Given the description of an element on the screen output the (x, y) to click on. 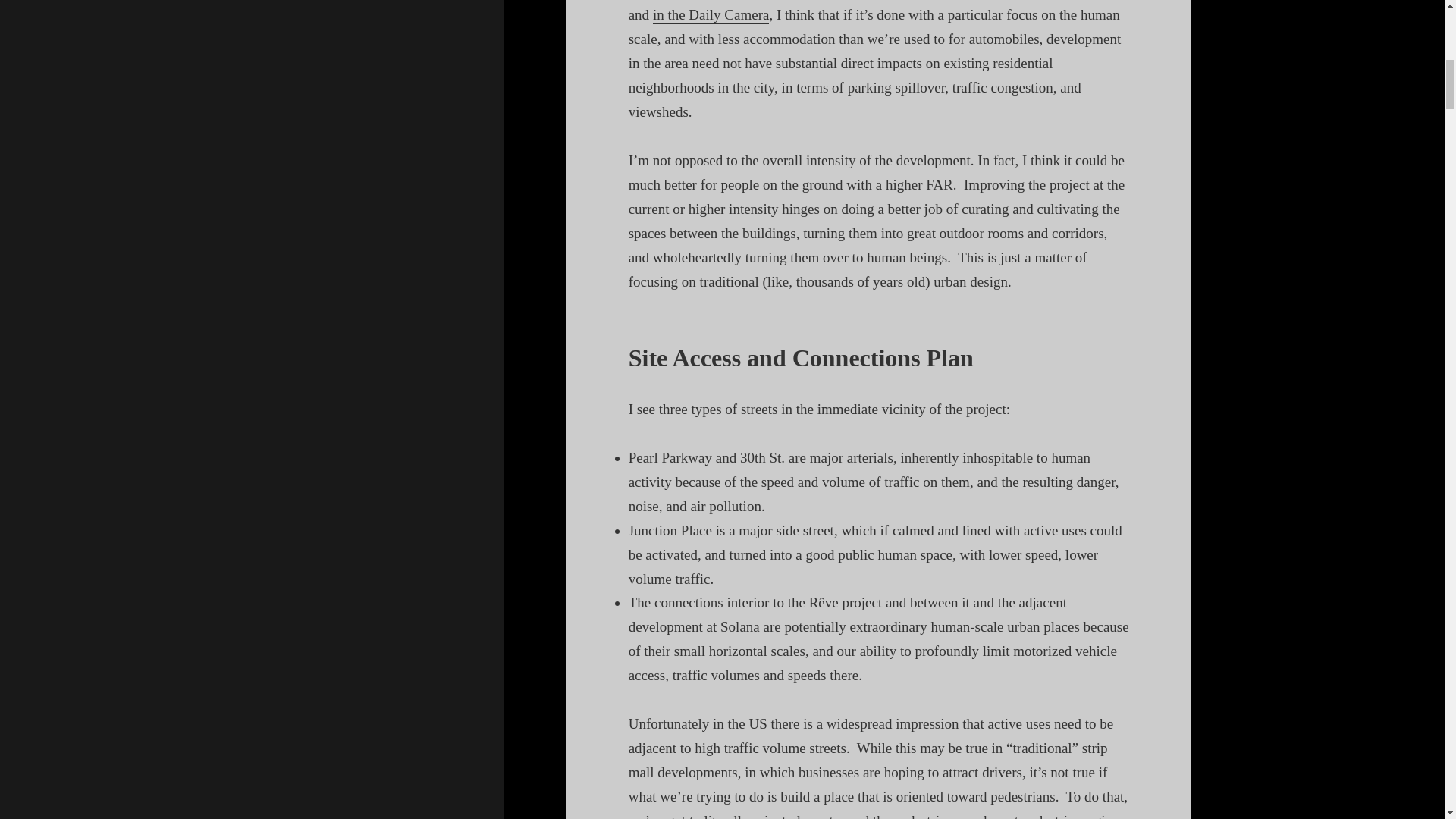
in the Daily Camera (711, 14)
